Given the description of an element on the screen output the (x, y) to click on. 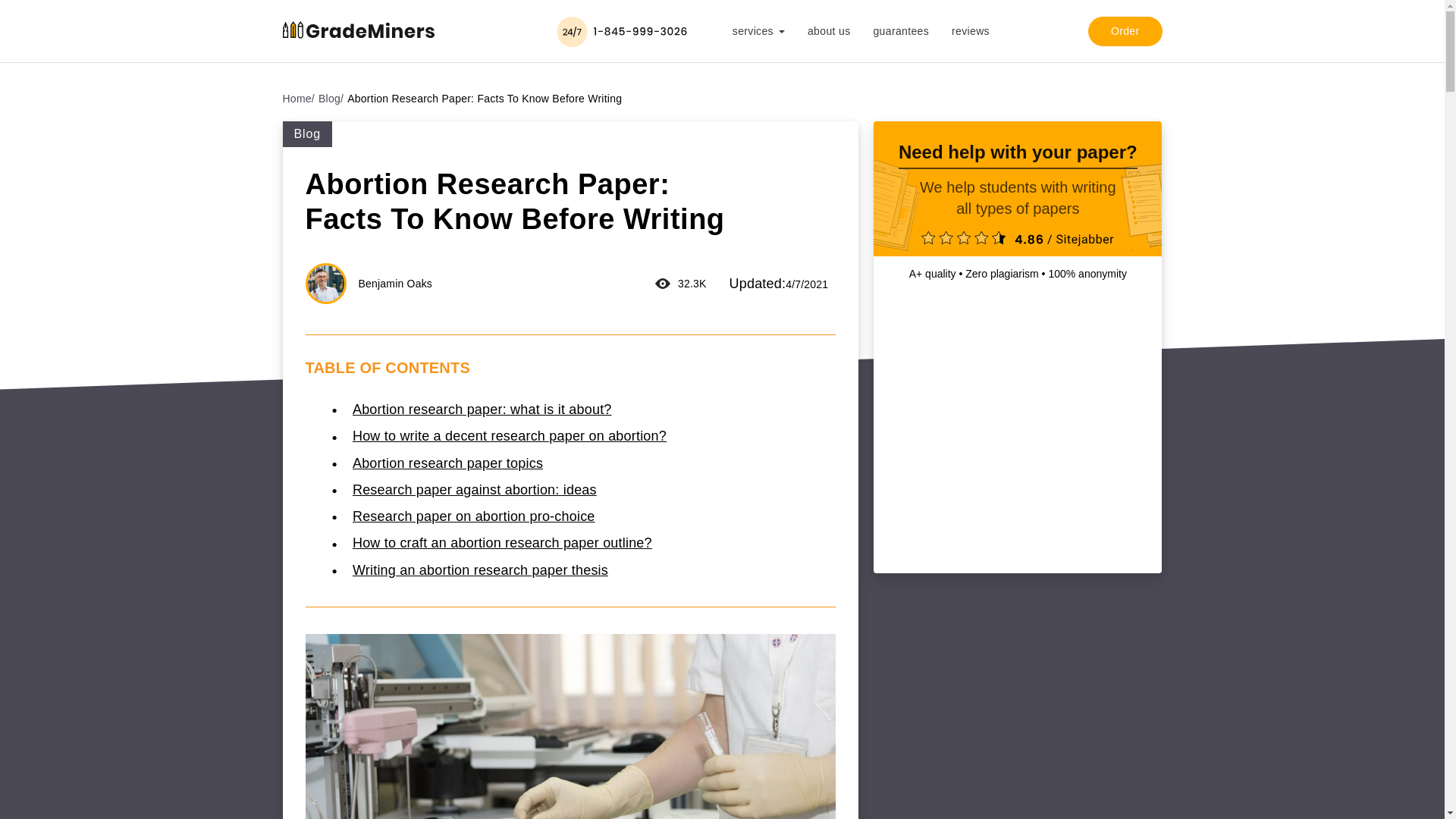
Research paper on abortion pro-choice (473, 516)
Research paper against abortion: ideas (474, 489)
Abortion research paper topics (447, 462)
Abortion research paper: what is it about? (481, 409)
Order (1124, 30)
Abortion research paper: what is it about? (481, 409)
How to write a decent research paper on abortion? (509, 435)
How to craft an abortion research paper outline? (502, 542)
Go to Home. (298, 98)
Blog (330, 98)
Writing an abortion research paper thesis (480, 570)
Research paper on abortion pro-choice (473, 516)
How to write a decent research paper on abortion? (509, 435)
Benjamin Oaks (395, 283)
Writing an abortion research paper thesis (480, 570)
